Given the description of an element on the screen output the (x, y) to click on. 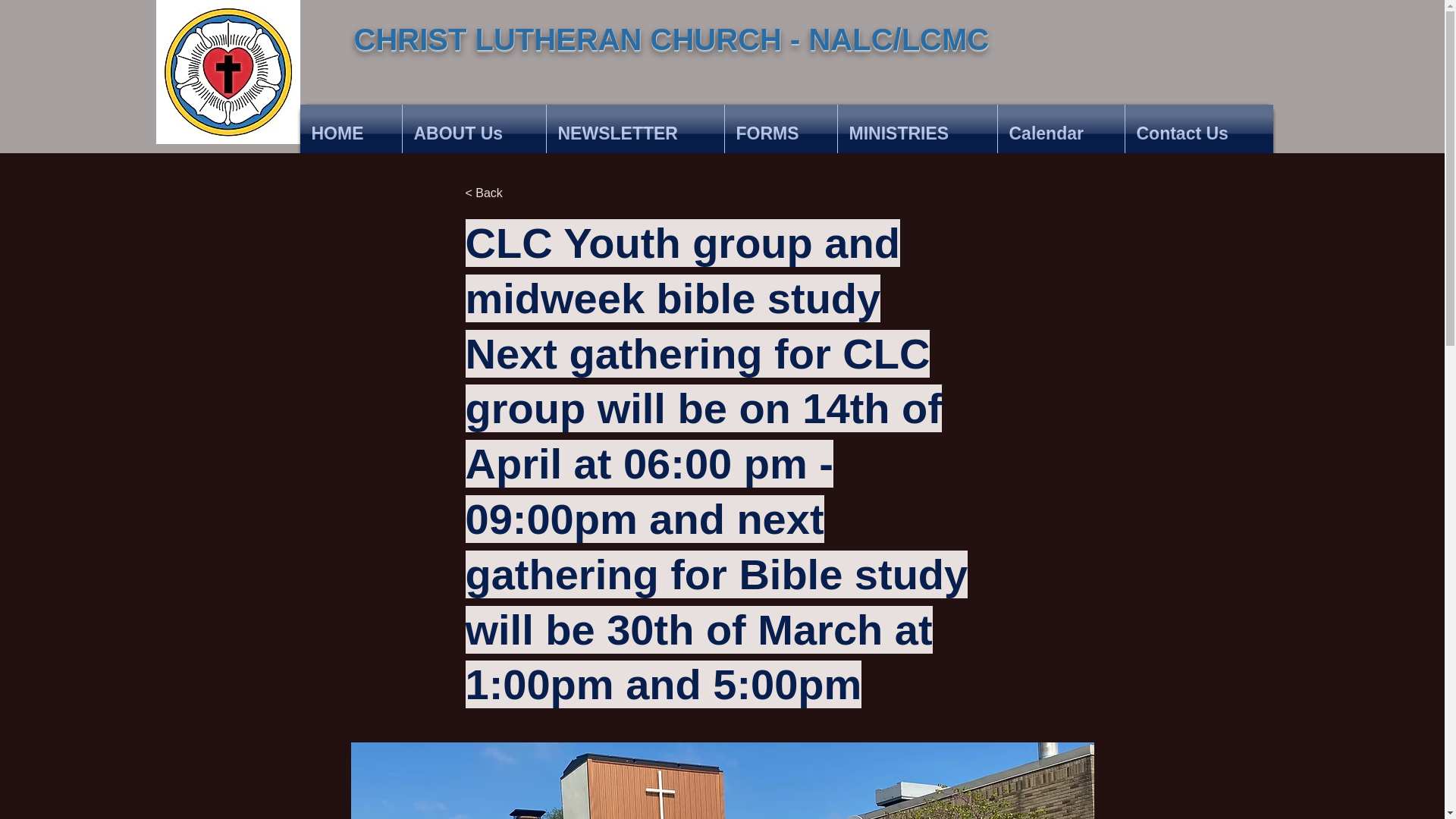
Calendar (1060, 133)
FORMS (781, 133)
ABOUT Us (472, 133)
HOME (350, 133)
Cave PR.jpg (227, 72)
MINISTRIES (916, 133)
Contact Us (1198, 133)
